Given the description of an element on the screen output the (x, y) to click on. 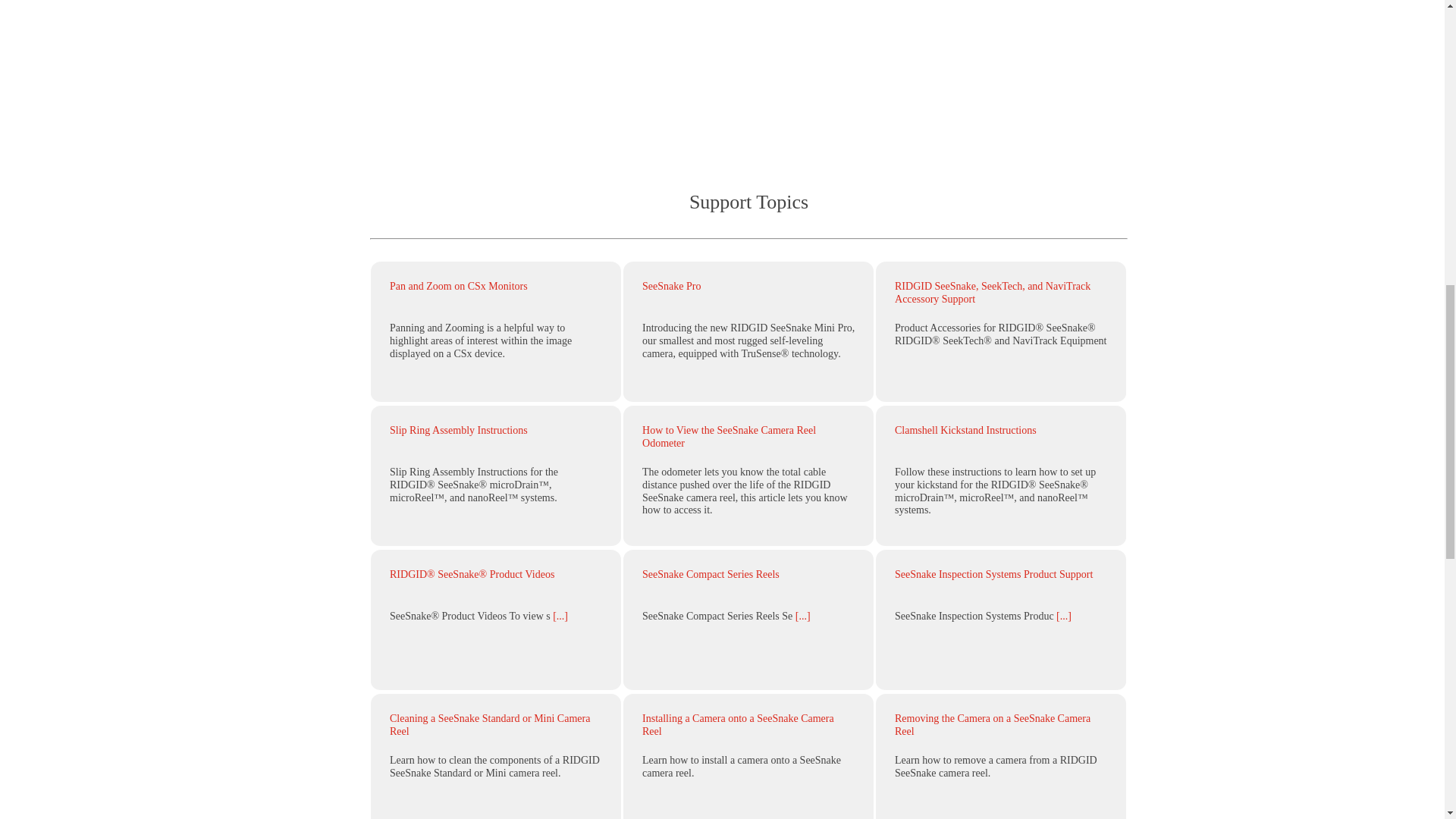
YouTube video player 1 (748, 67)
How to View the SeeSnake Camera Reel Odometer (728, 436)
RIDGID SeeSnake, SeekTech, and NaviTrack Accessory Support (992, 292)
Slip Ring Assembly Instructions (458, 430)
Pan and Zoom on CSx Monitors (458, 285)
SeeSnake Pro (671, 285)
Clamshell Kickstand Instructions (965, 430)
Support Topics (749, 216)
